Given the description of an element on the screen output the (x, y) to click on. 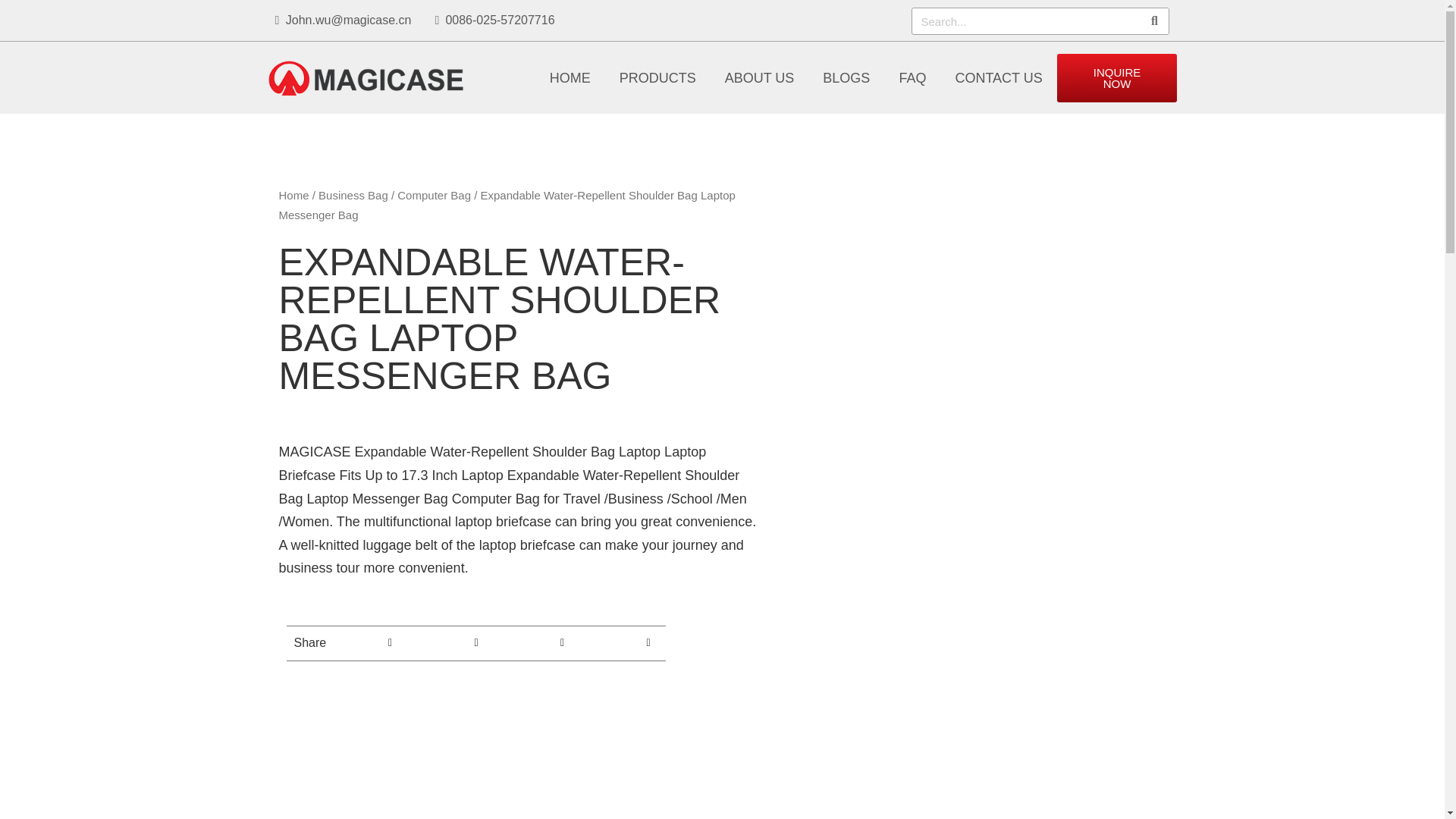
PRODUCTS (657, 77)
BLOGS (845, 77)
0086-025-57207716 (499, 19)
FAQ (911, 77)
ABOUT US (759, 77)
CONTACT US (998, 77)
HOME (570, 77)
